Given the description of an element on the screen output the (x, y) to click on. 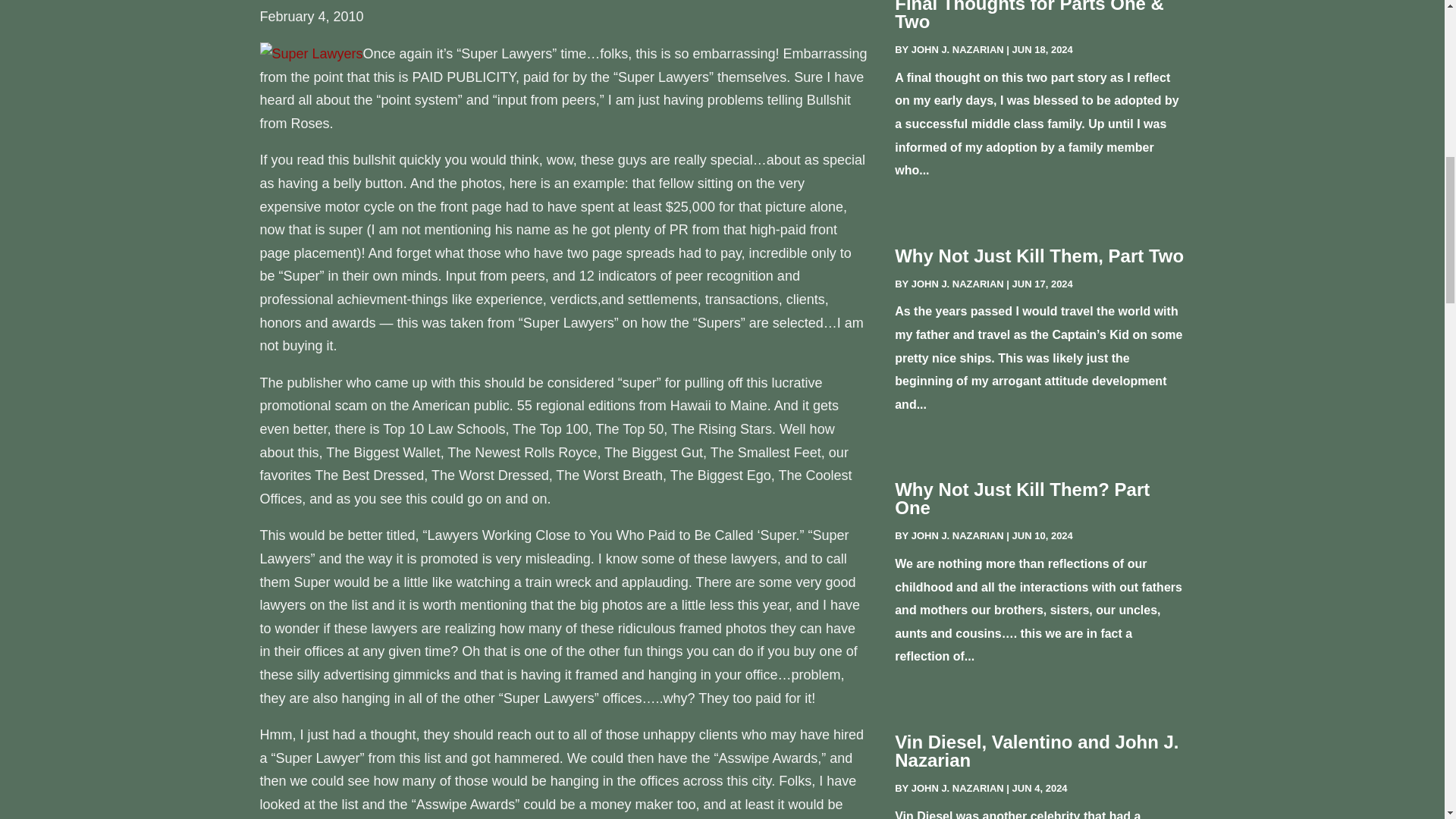
Why Not Just Kill Them, Part Two (1039, 255)
Why Not Just Kill Them? Part One (1022, 498)
Super Lawyers (310, 53)
JOHN J. NAZARIAN (957, 787)
Posts by John J. Nazarian (957, 49)
Posts by John J. Nazarian (957, 283)
JOHN J. NAZARIAN (957, 535)
Vin Diesel, Valentino and John J. Nazarian (1036, 751)
JOHN J. NAZARIAN (957, 283)
JOHN J. NAZARIAN (957, 49)
Posts by John J. Nazarian (957, 535)
Posts by John J. Nazarian (957, 787)
